Given the description of an element on the screen output the (x, y) to click on. 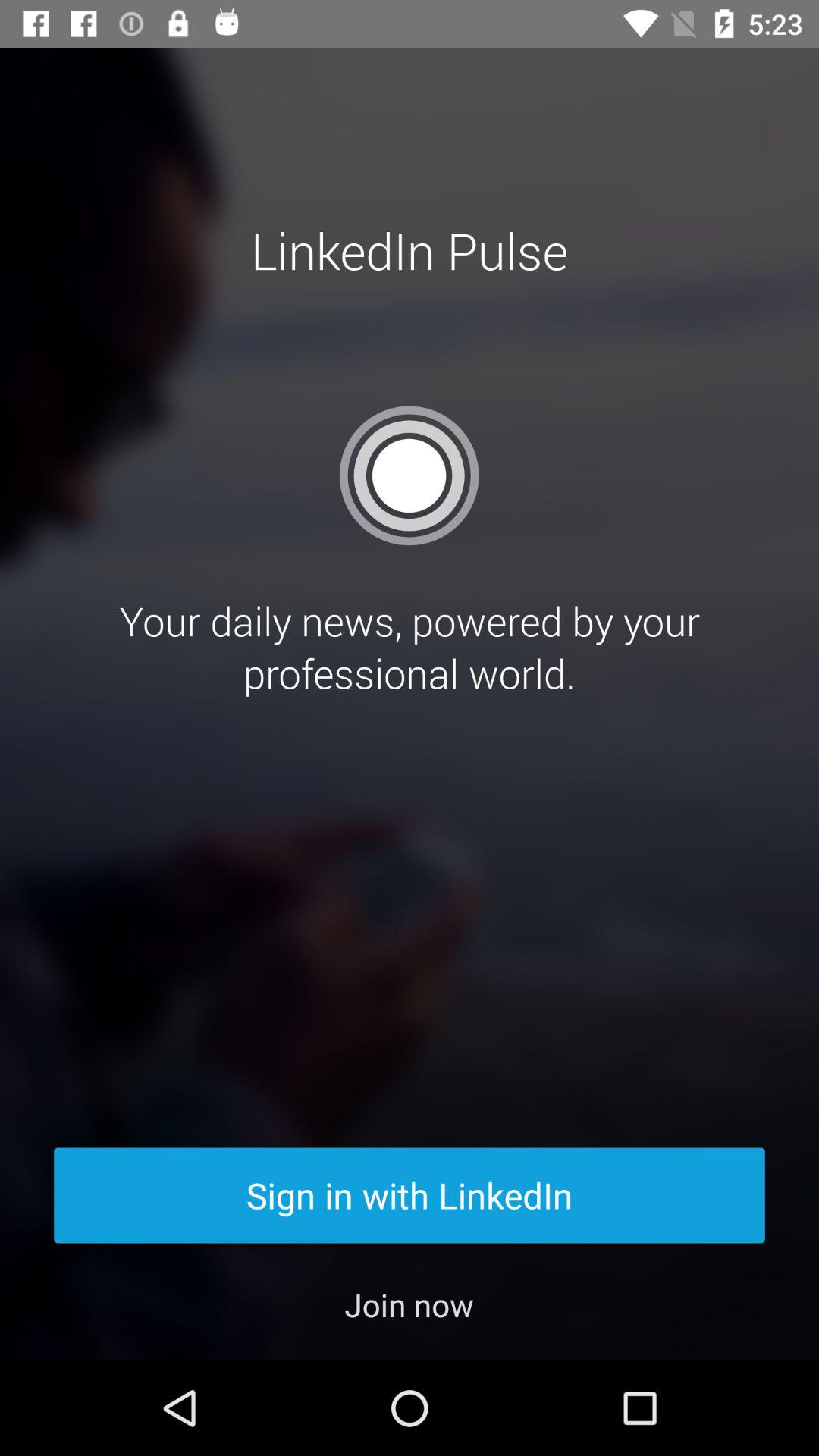
click the sign in with (409, 1195)
